Given the description of an element on the screen output the (x, y) to click on. 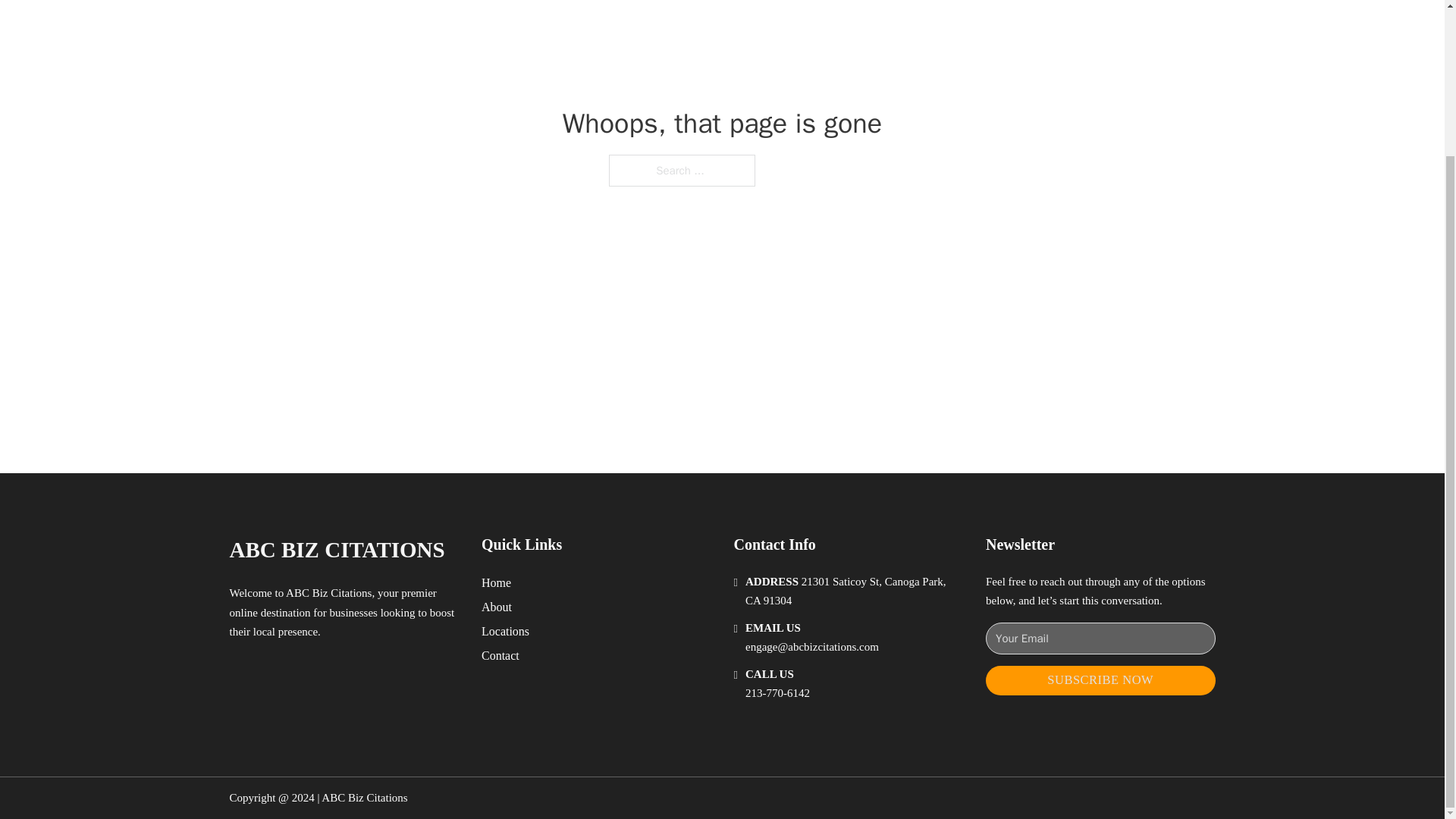
Contact (500, 655)
213-770-6142 (777, 693)
About (496, 607)
Locations (505, 630)
SUBSCRIBE NOW (1100, 680)
ABC BIZ CITATIONS (336, 549)
Home (496, 582)
